Given the description of an element on the screen output the (x, y) to click on. 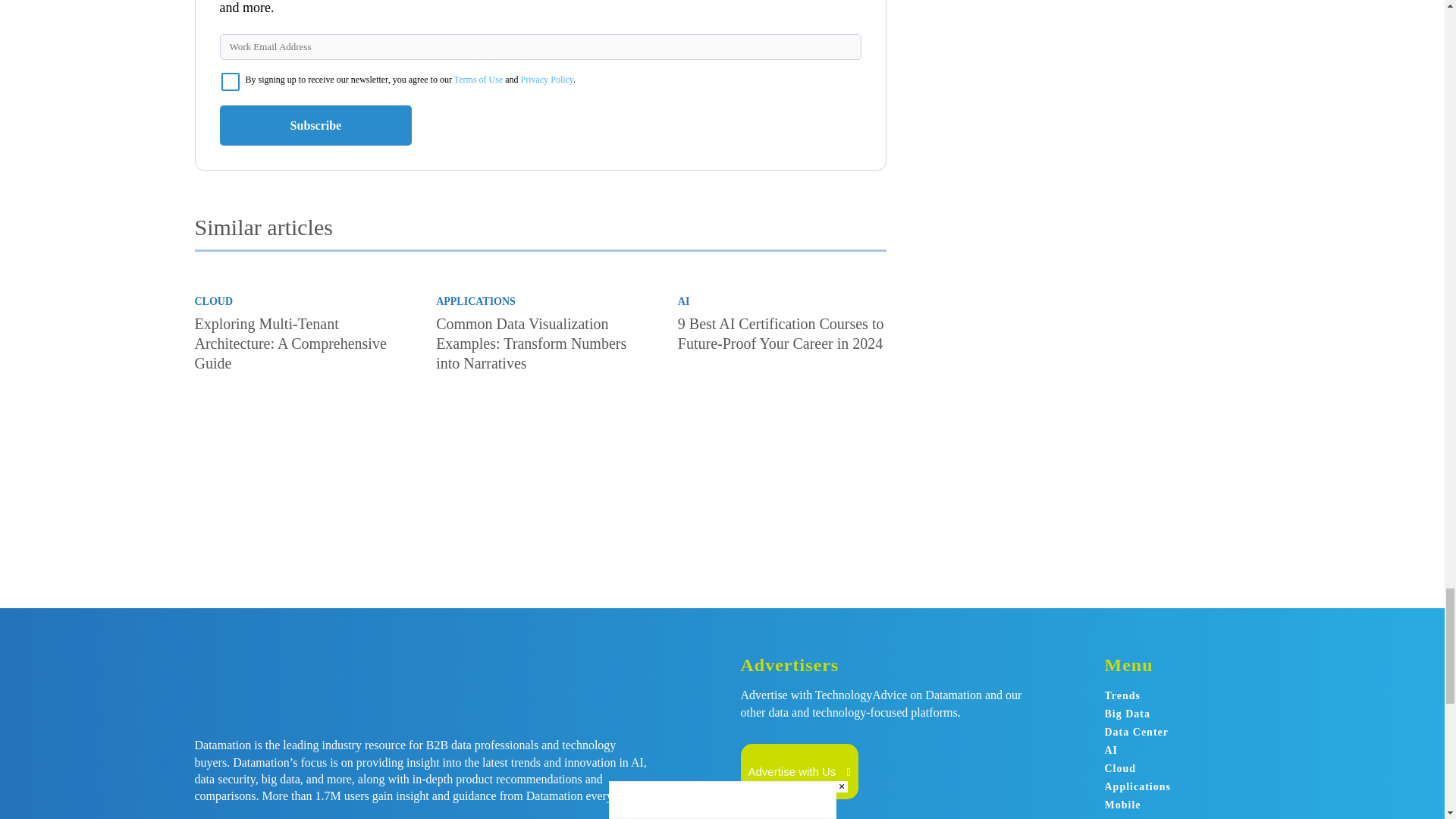
Exploring Multi-Tenant Architecture: A Comprehensive Guide (289, 343)
on (230, 81)
Exploring Multi-Tenant Architecture: A Comprehensive Guide (298, 450)
